Given the description of an element on the screen output the (x, y) to click on. 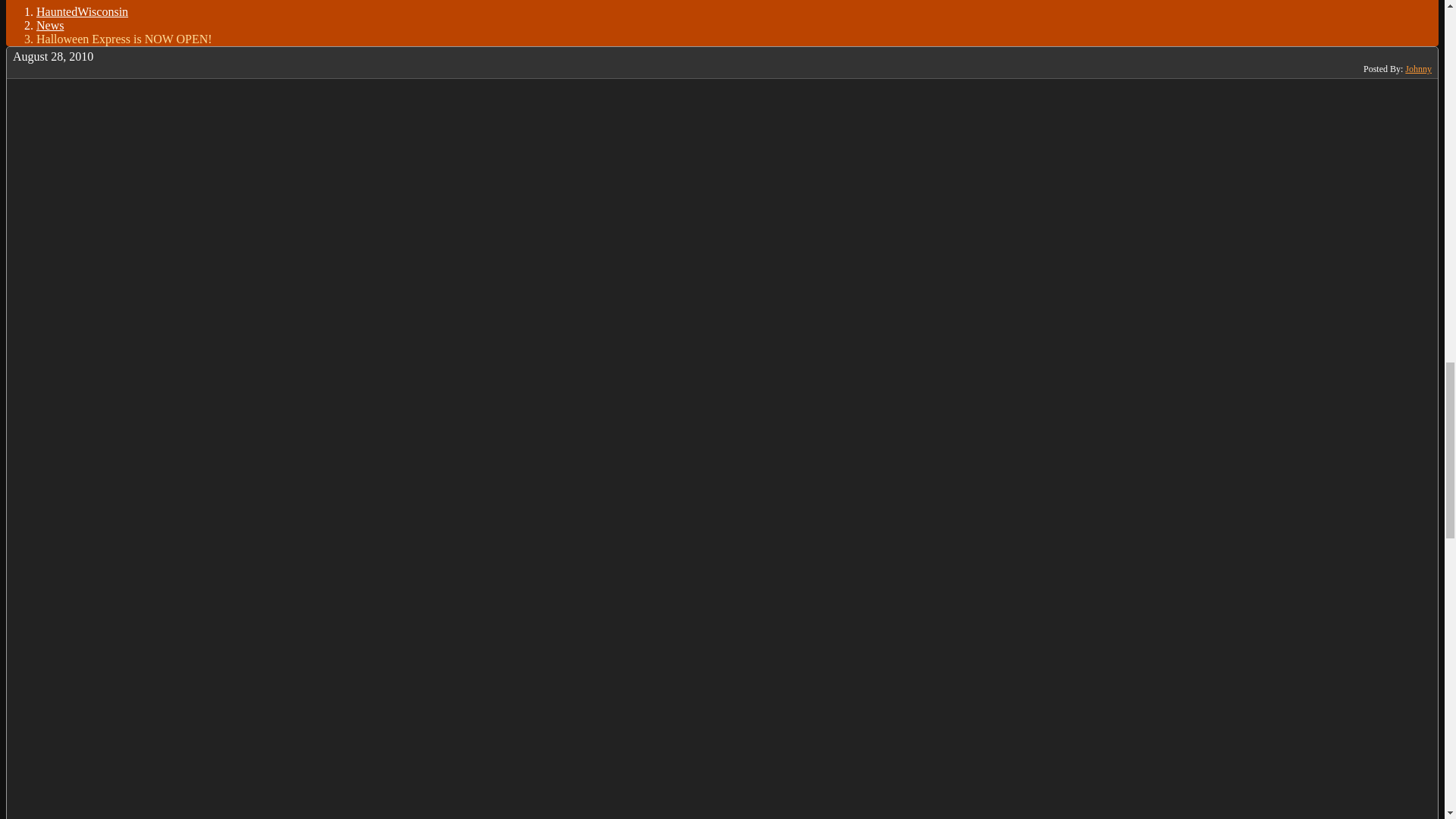
News (50, 24)
Johnny (1418, 68)
HauntedWisconsin (82, 11)
